Given the description of an element on the screen output the (x, y) to click on. 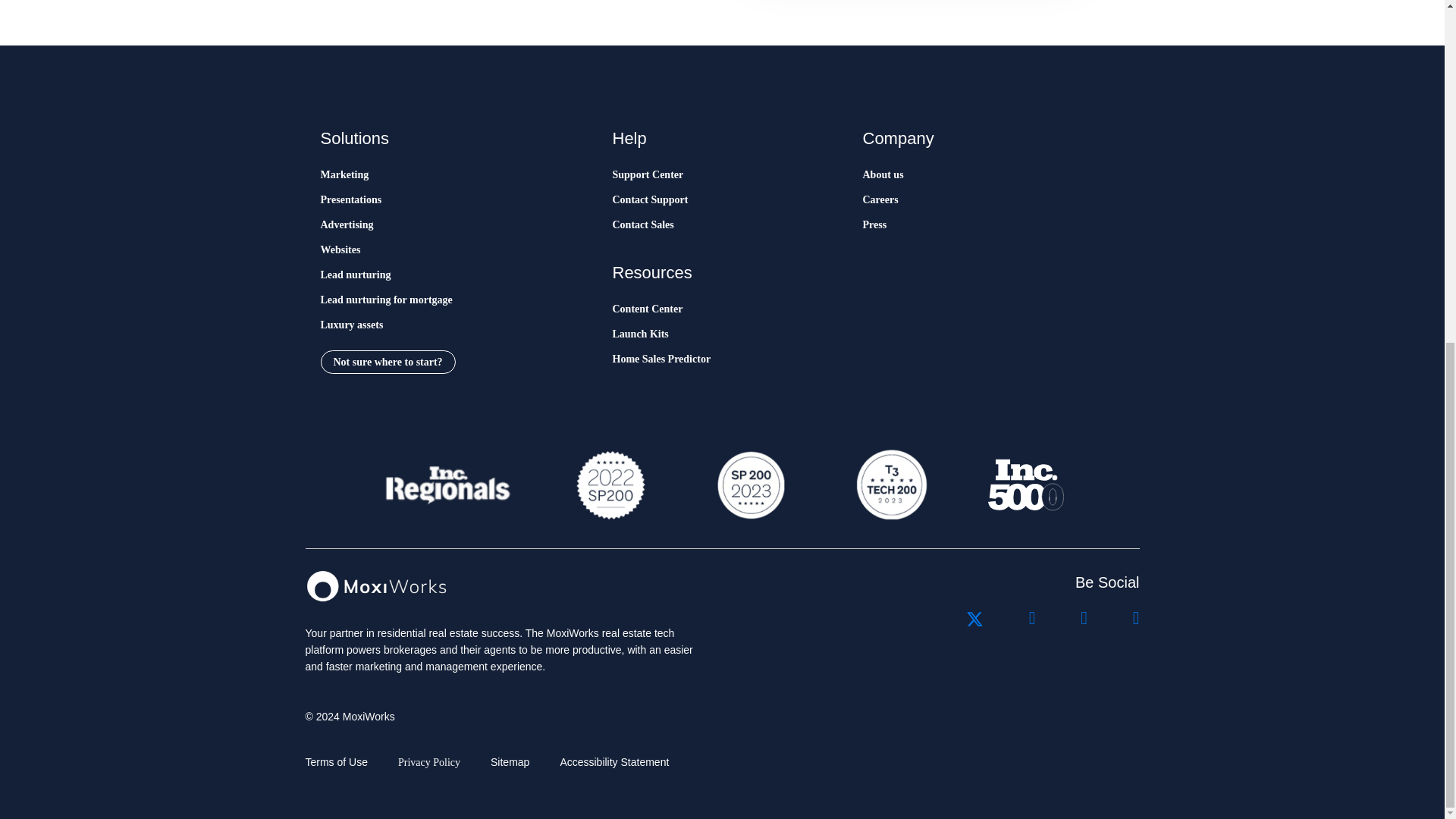
T3 tech 200 2023 (890, 484)
SP 2022 (610, 484)
SP 2023 (749, 484)
